Given the description of an element on the screen output the (x, y) to click on. 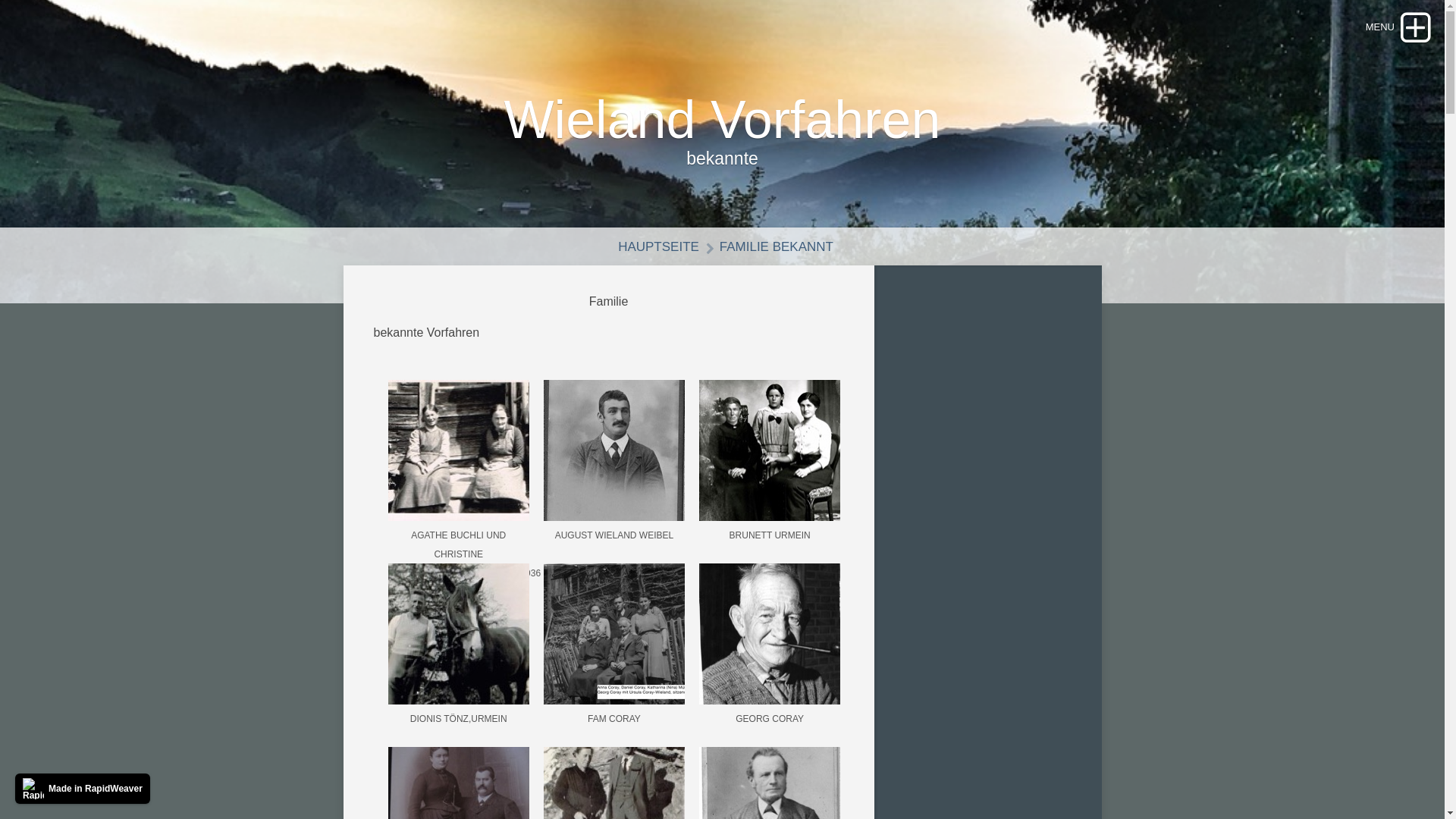
FAMILIE BEKANNT Element type: text (769, 246)
HAUPTSEITE Element type: text (651, 246)
